Given the description of an element on the screen output the (x, y) to click on. 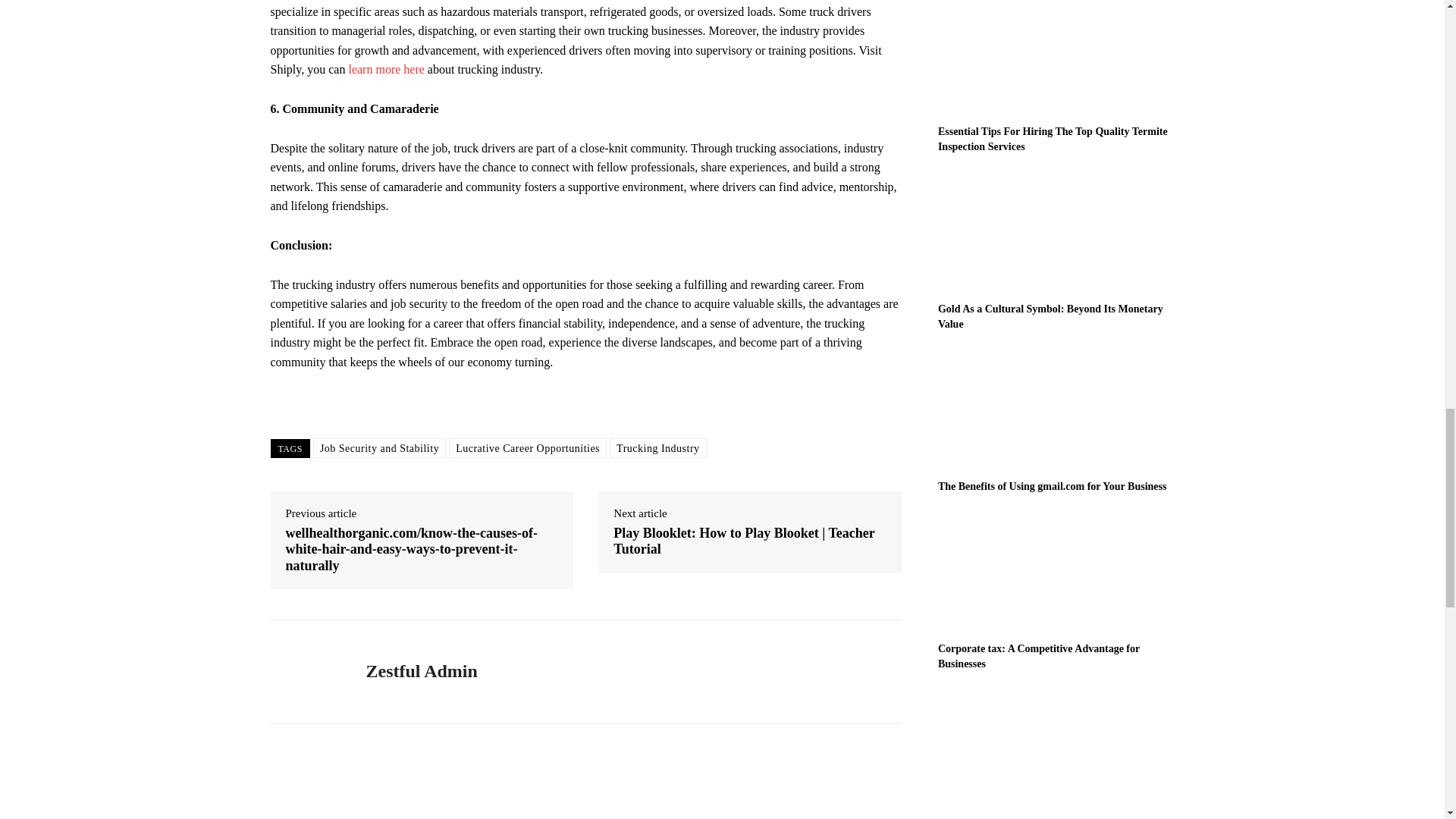
Gold As a Cultural Symbol: Beyond Its Monetary Value (1055, 232)
Zestful Admin (305, 671)
